Given the description of an element on the screen output the (x, y) to click on. 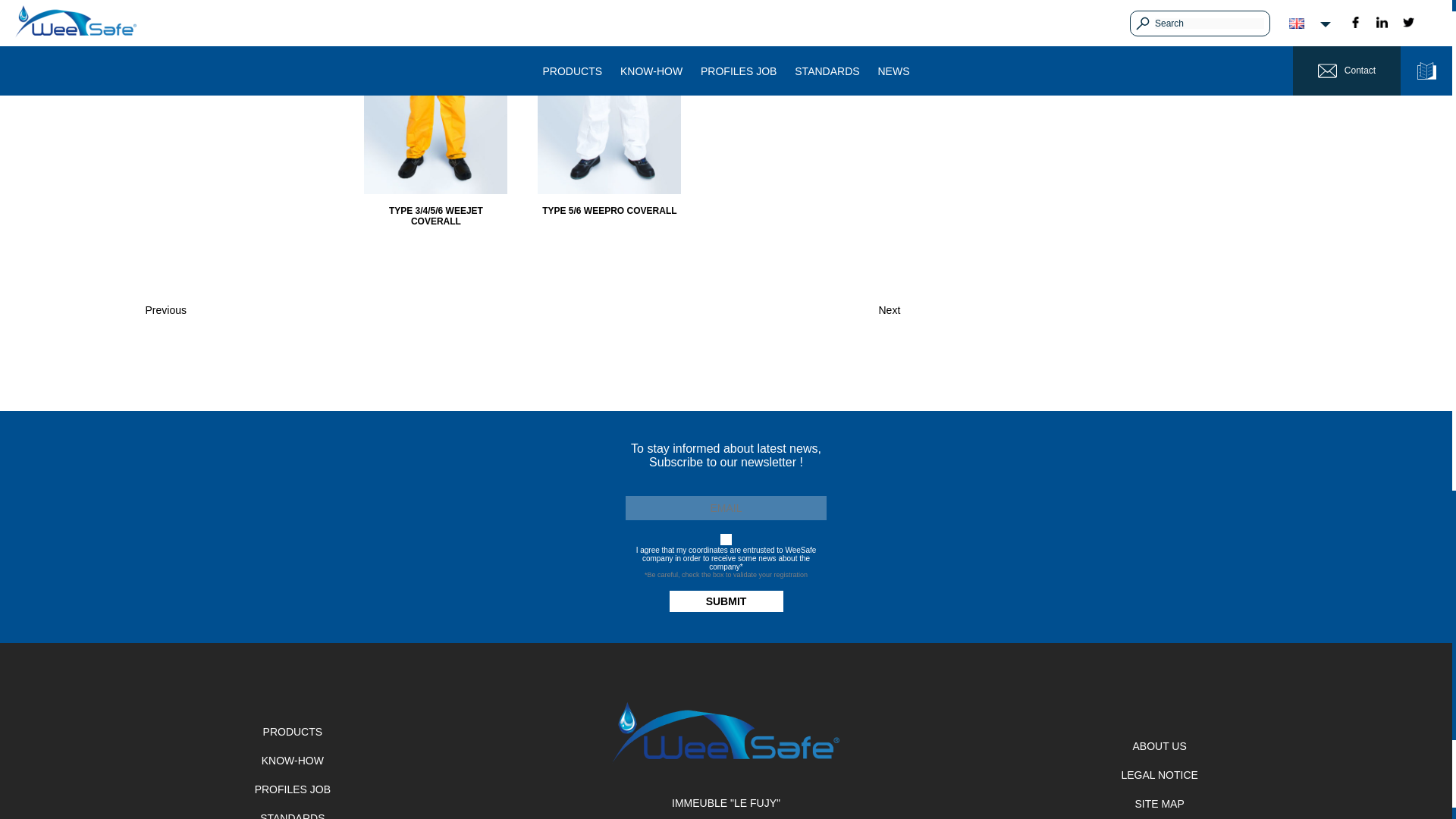
on (726, 539)
Previous (165, 309)
SUBMIT (725, 600)
Next (888, 309)
